Given the description of an element on the screen output the (x, y) to click on. 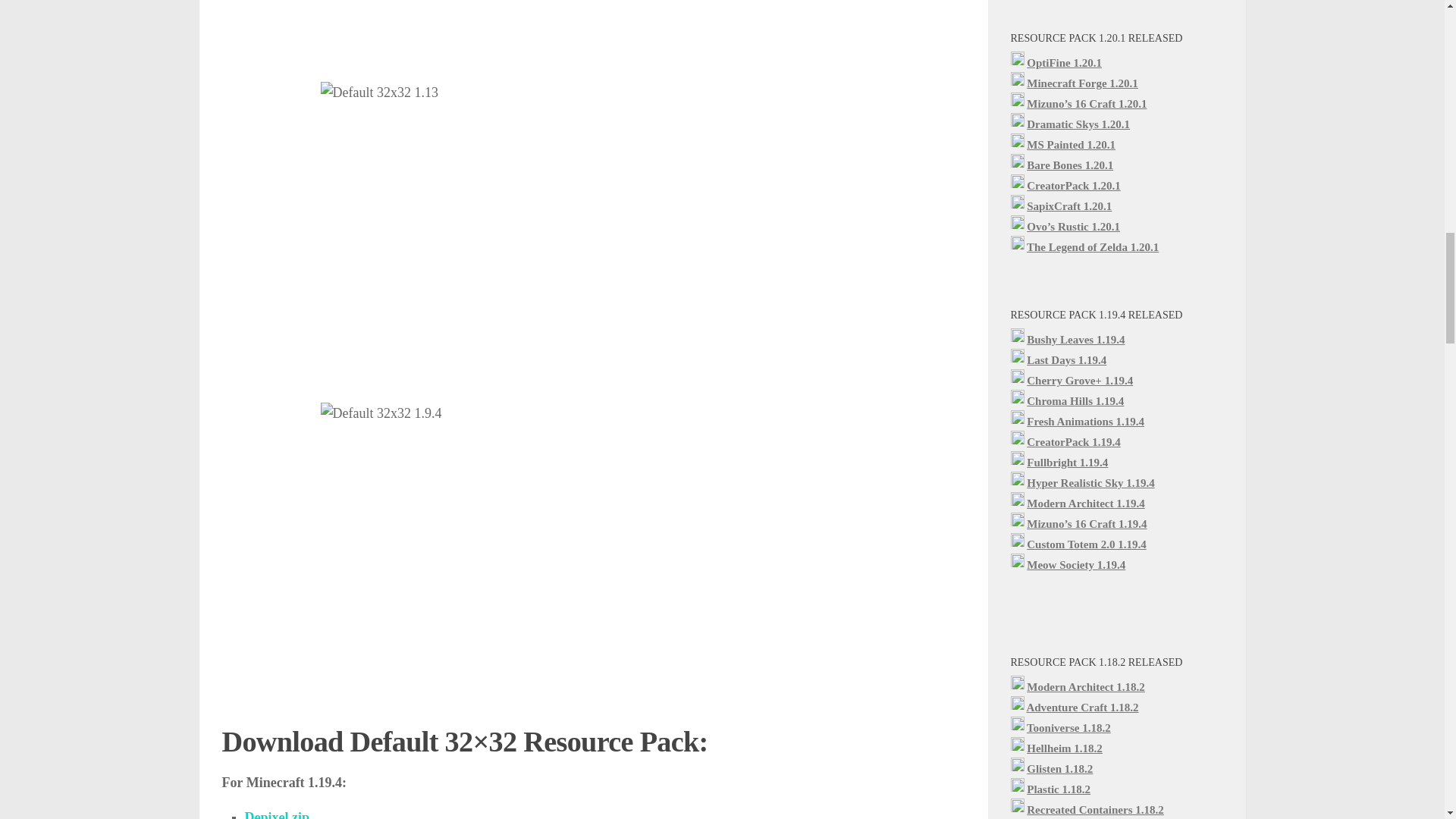
Depixel.zip (276, 814)
